Given the description of an element on the screen output the (x, y) to click on. 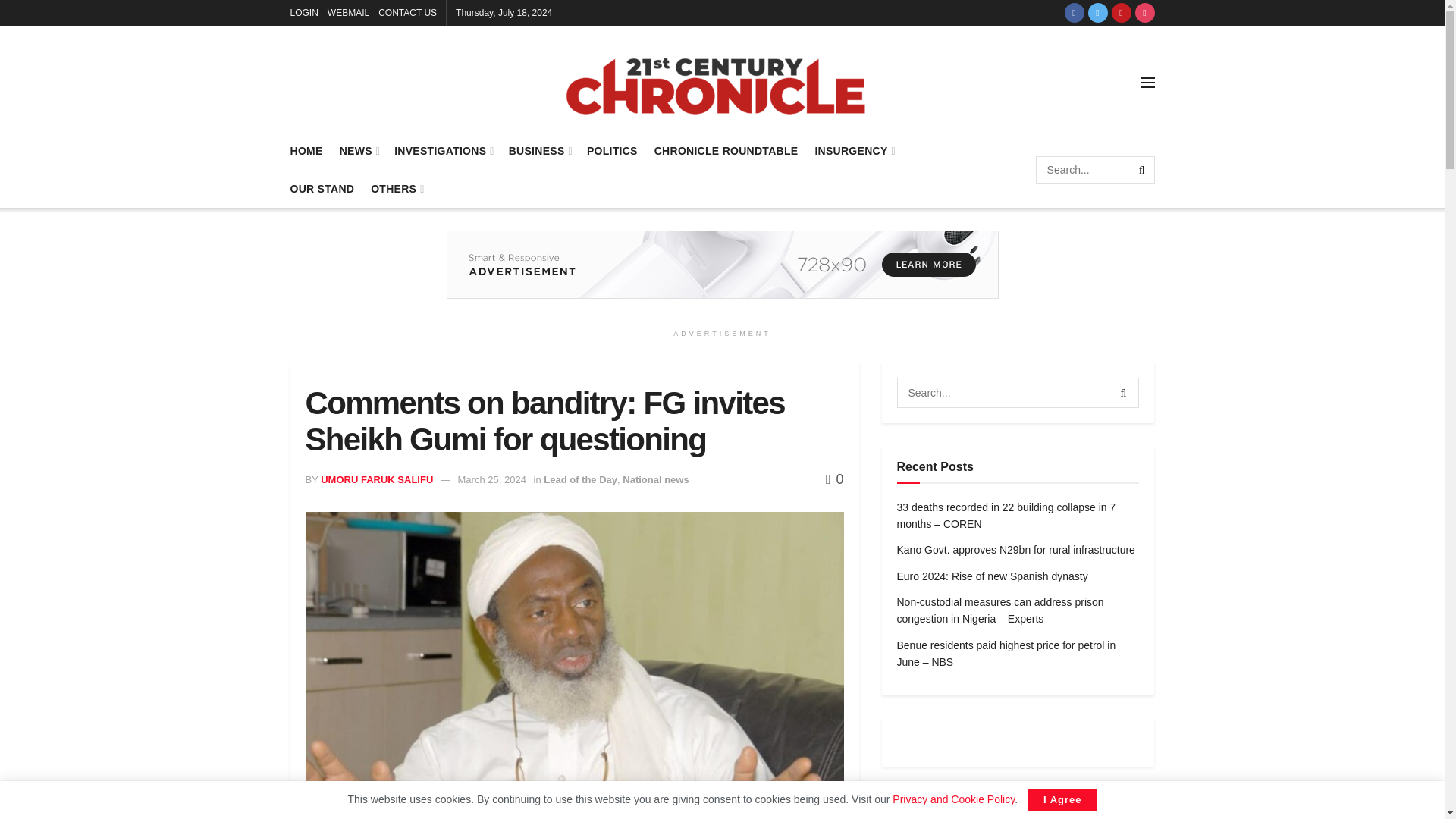
NEWS (358, 150)
CHRONICLE ROUNDTABLE (725, 150)
INVESTIGATIONS (443, 150)
POLITICS (611, 150)
BUSINESS (539, 150)
CONTACT US (407, 12)
INSURGENCY (853, 150)
OTHERS (396, 188)
WEBMAIL (348, 12)
LOGIN (303, 12)
OUR STAND (321, 188)
